Given the description of an element on the screen output the (x, y) to click on. 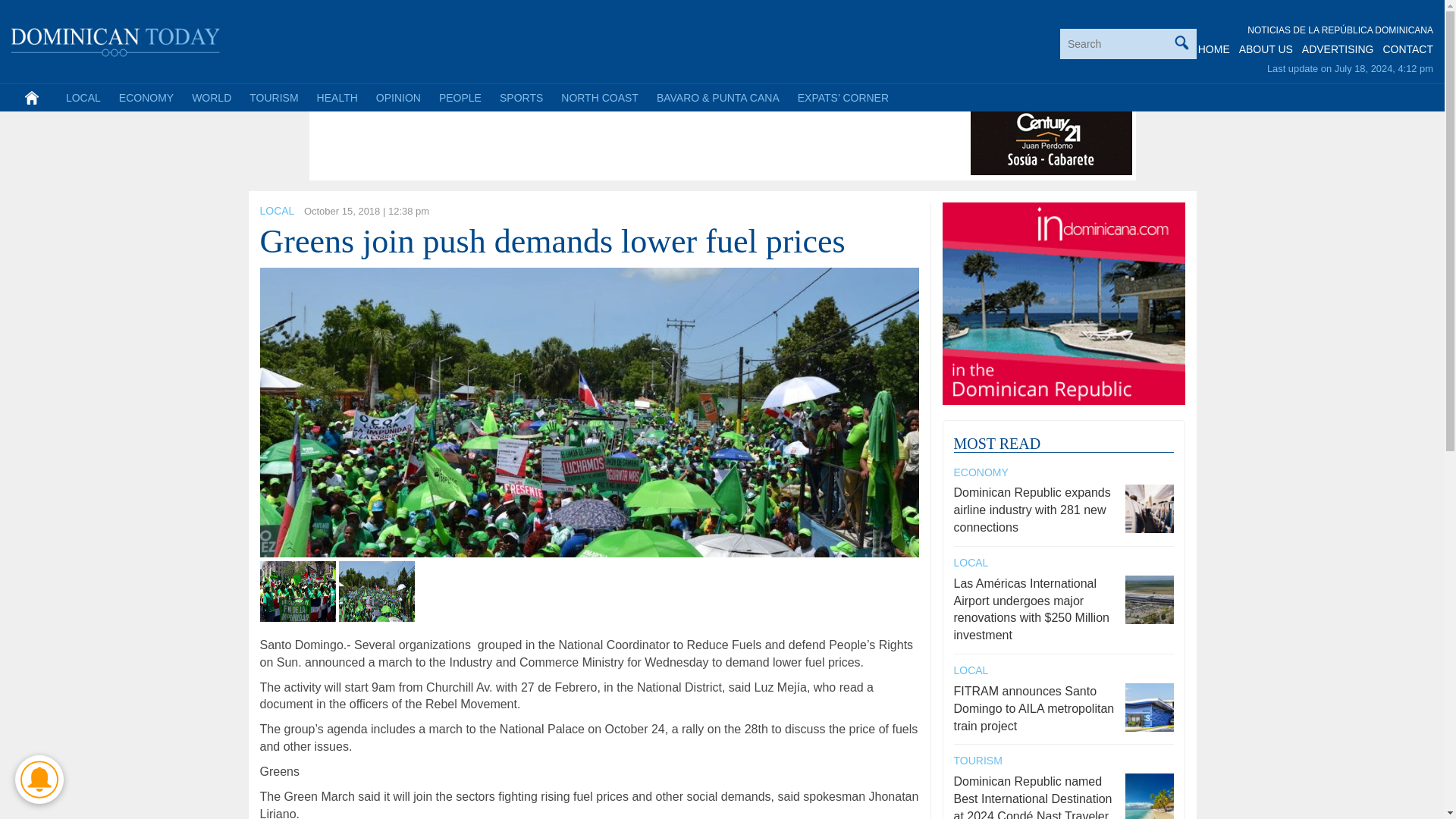
TOURISM (273, 97)
SPORTS (520, 97)
ABOUT US (1265, 49)
NORTH COAST (599, 97)
ECONOMY (146, 97)
PEOPLE (459, 97)
ADVERTISING (1337, 49)
OPINION (397, 97)
CONTACT (1406, 49)
WORLD (211, 97)
Dominican Today News - Santo Domingo and Dominican Republic (116, 38)
HOME (1214, 49)
HEALTH (336, 97)
LOCAL (276, 210)
Advertisement (589, 141)
